Given the description of an element on the screen output the (x, y) to click on. 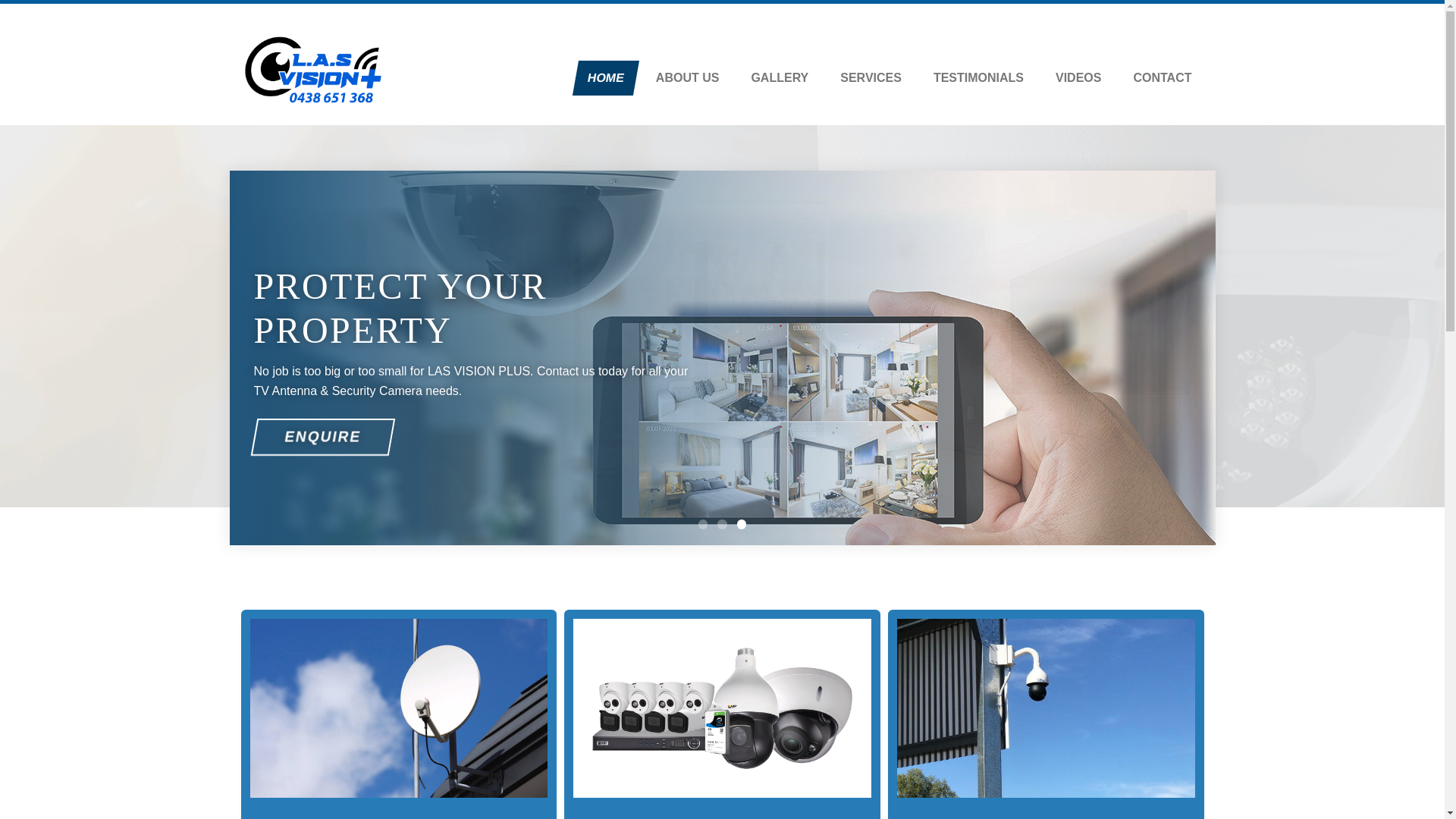
GALLERY Element type: text (779, 77)
ENQUIRE Element type: text (319, 436)
TESTIMONIALS Element type: text (978, 77)
CONTACT Element type: text (1161, 77)
ABOUT US Element type: text (687, 77)
SERVICES Element type: text (870, 77)
VIDEOS Element type: text (1078, 77)
HOME Element type: text (602, 77)
